Given the description of an element on the screen output the (x, y) to click on. 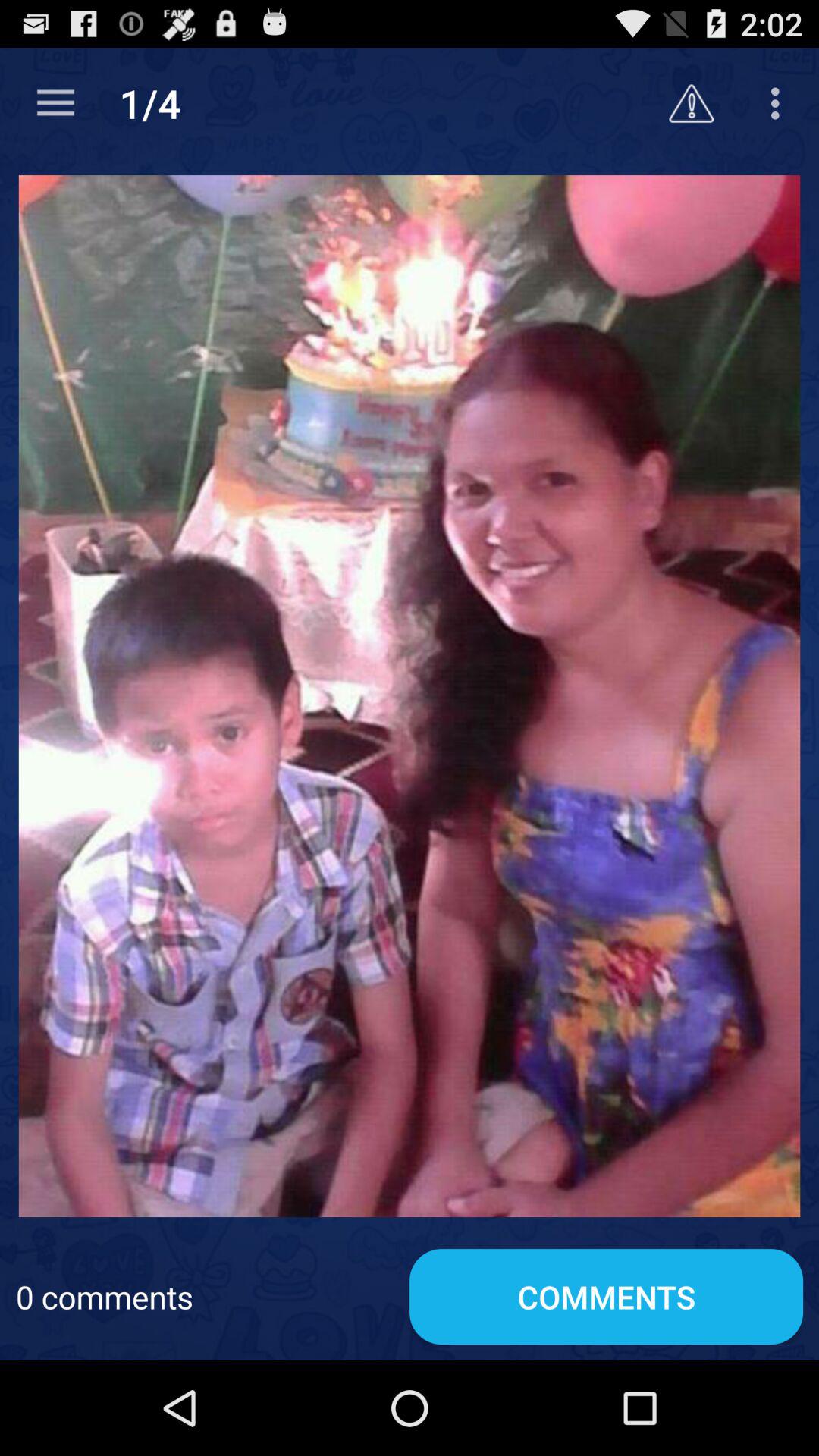
open item next to 1/4 app (691, 103)
